Given the description of an element on the screen output the (x, y) to click on. 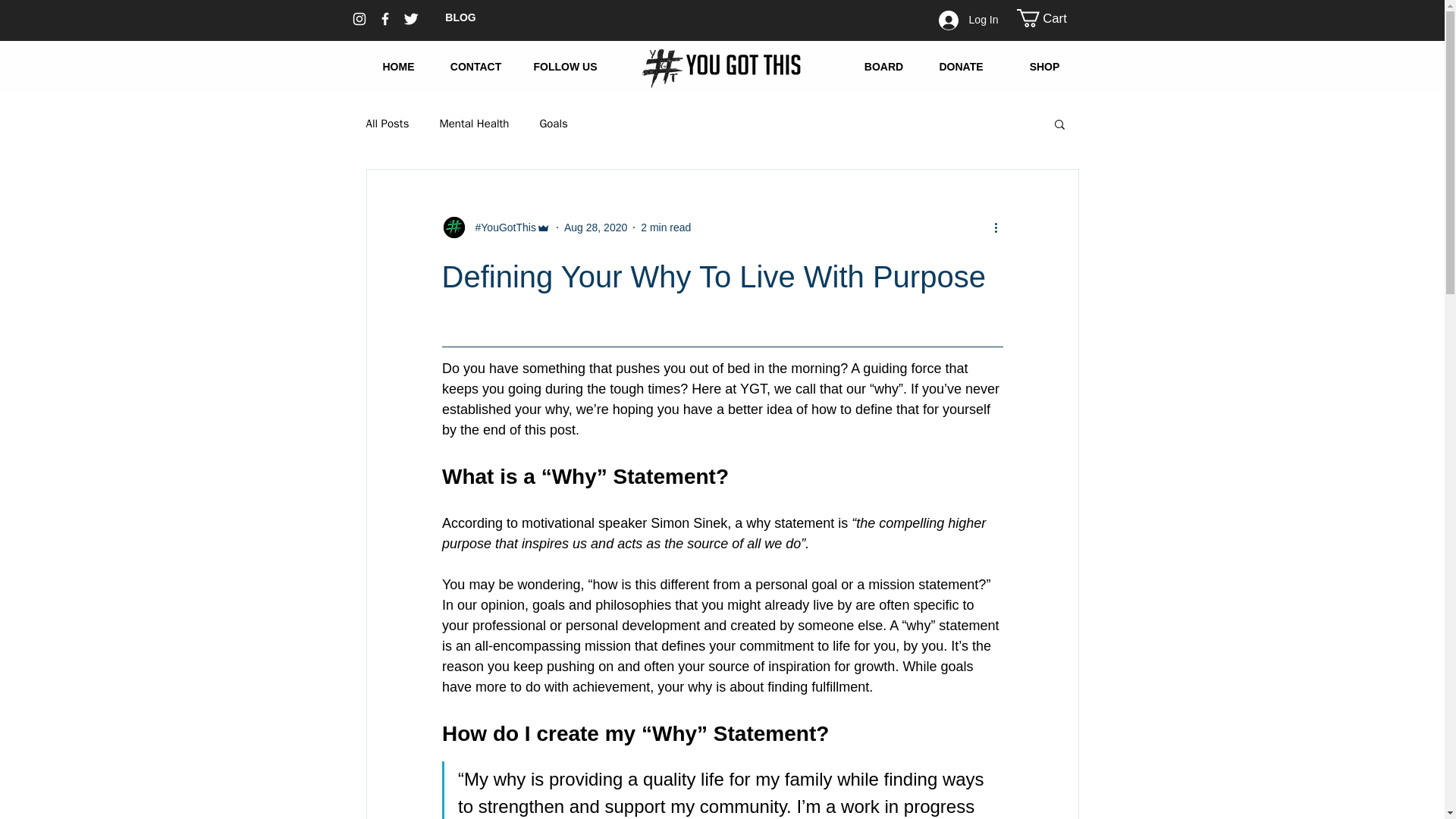
HOME (398, 67)
BLOG (460, 17)
DONATE (960, 67)
FOLLOW US (564, 67)
Goals (552, 124)
All Posts (387, 124)
Cart (1051, 18)
Aug 28, 2020 (595, 227)
Cart (1051, 18)
Mental Health (473, 124)
